Given the description of an element on the screen output the (x, y) to click on. 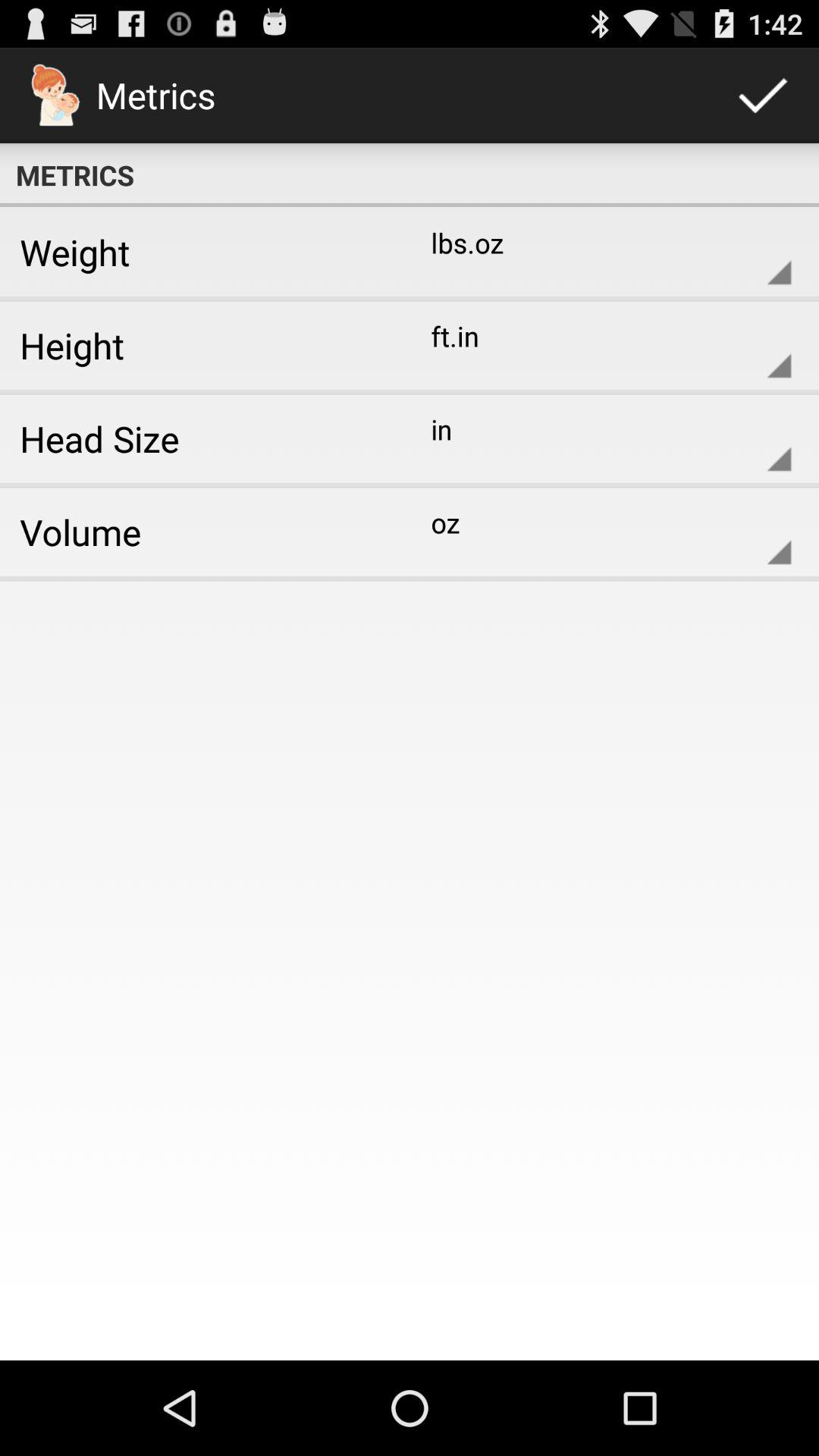
tap item next to the ft.in item (199, 345)
